Given the description of an element on the screen output the (x, y) to click on. 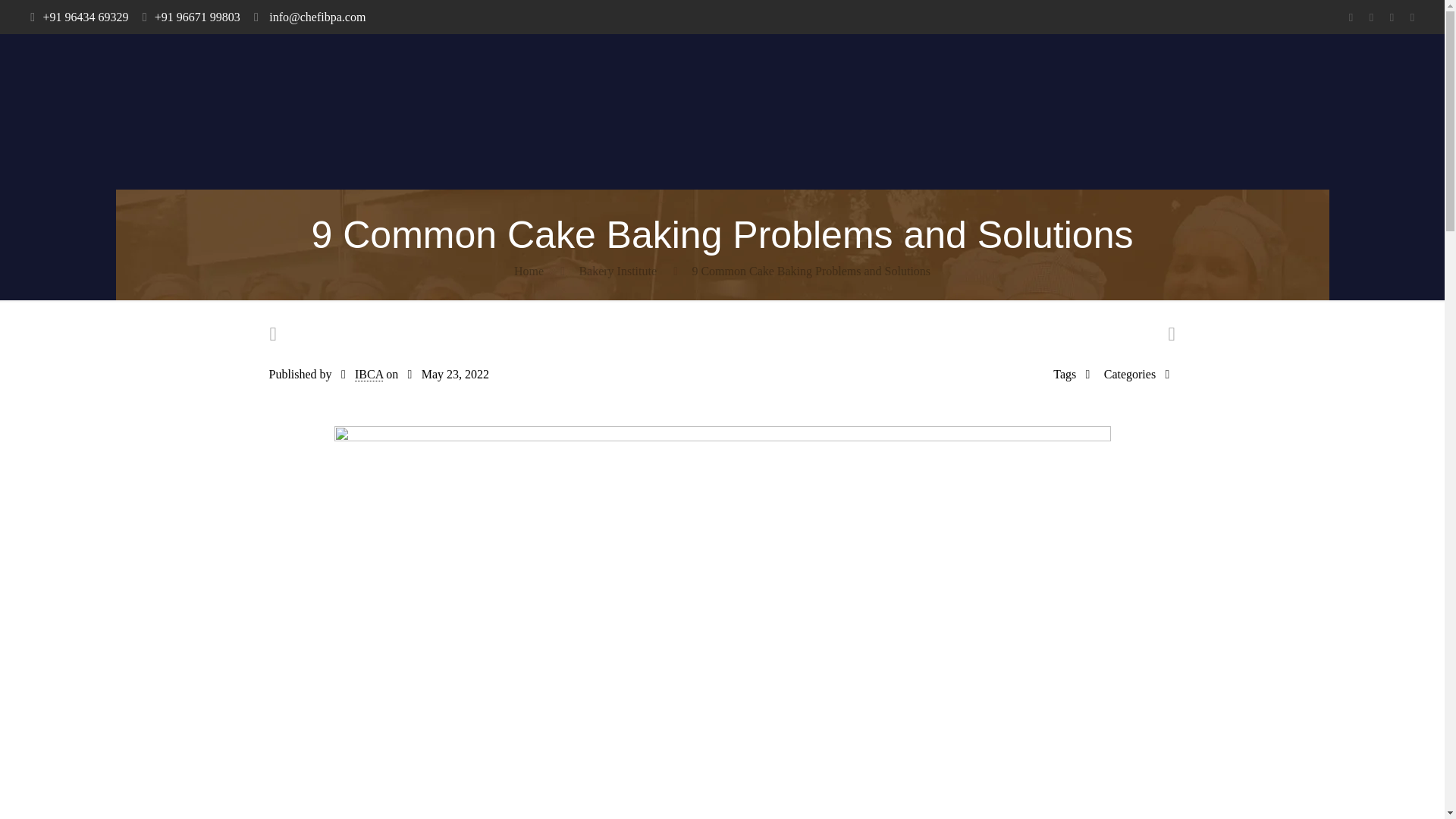
YouTube (1391, 17)
WhatsApp (1350, 17)
Instagram (1413, 17)
Facebook (1370, 17)
